Given the description of an element on the screen output the (x, y) to click on. 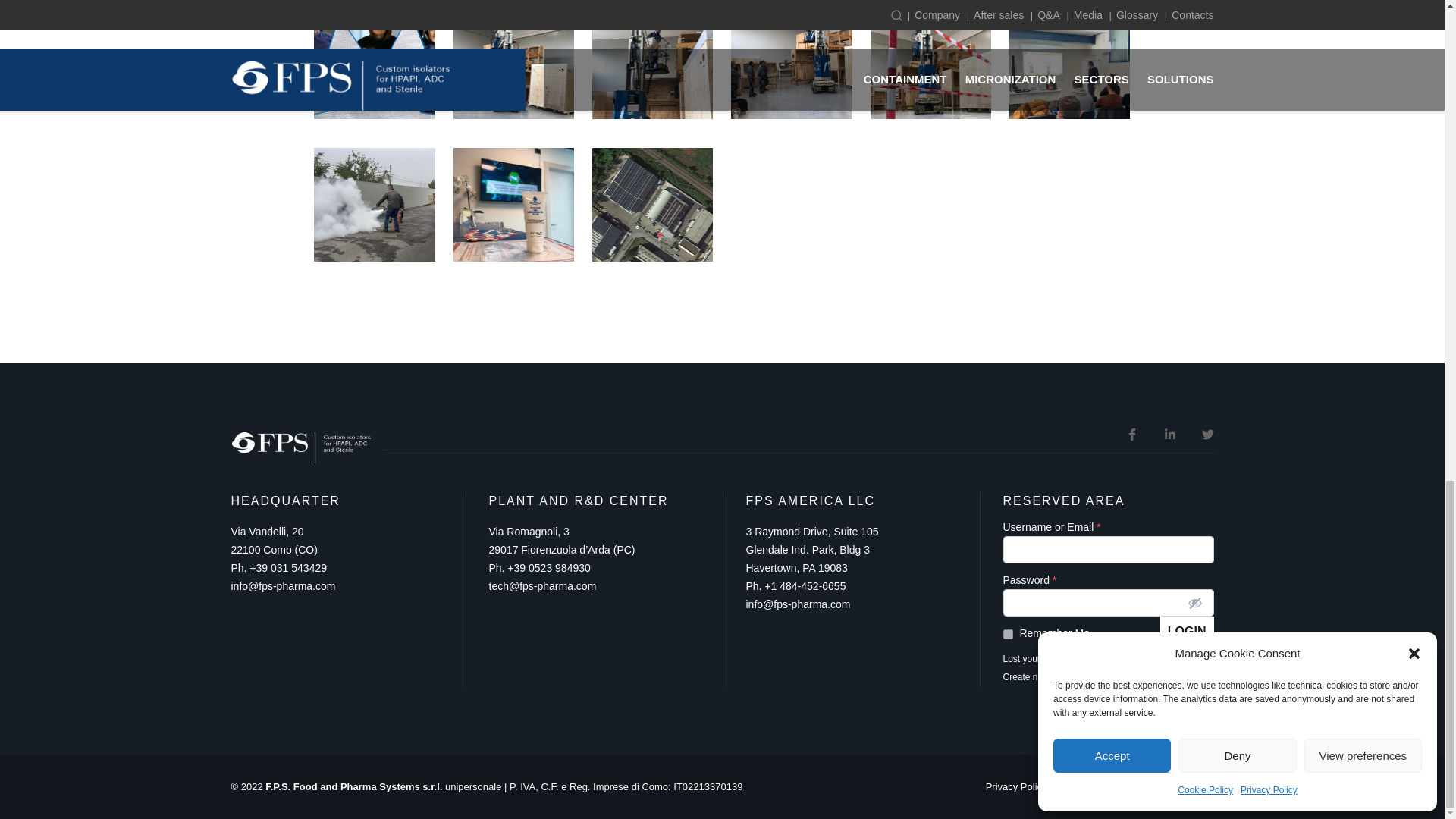
Login (1187, 631)
forever (1007, 634)
Show password (1195, 602)
